Given the description of an element on the screen output the (x, y) to click on. 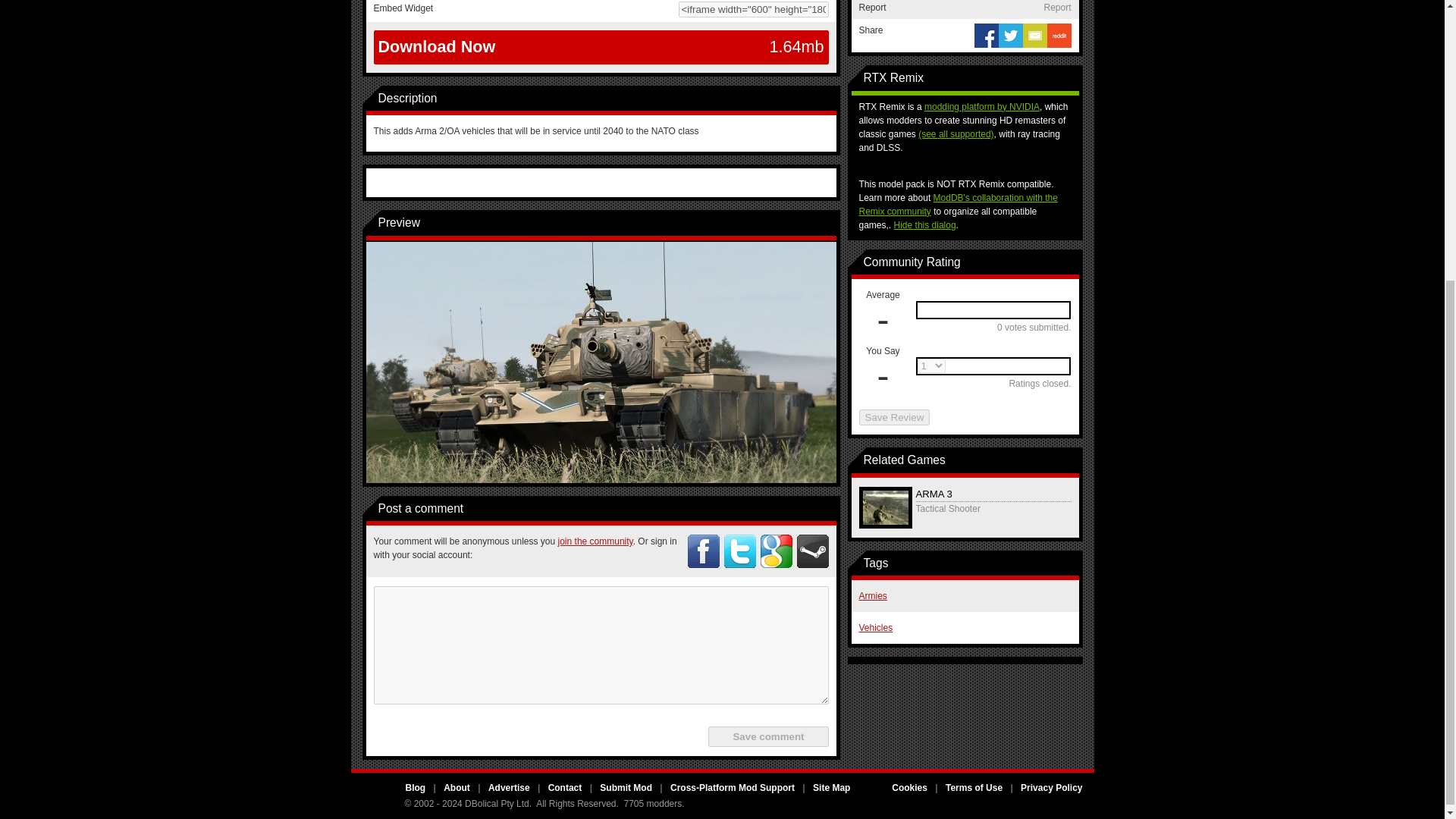
Save comment (767, 736)
Jemand Arma 2 vehicle port (600, 361)
Your download... (600, 46)
Click to connect via Steam (812, 551)
Save Review (894, 417)
Embed the file using this HTML (600, 11)
